Given the description of an element on the screen output the (x, y) to click on. 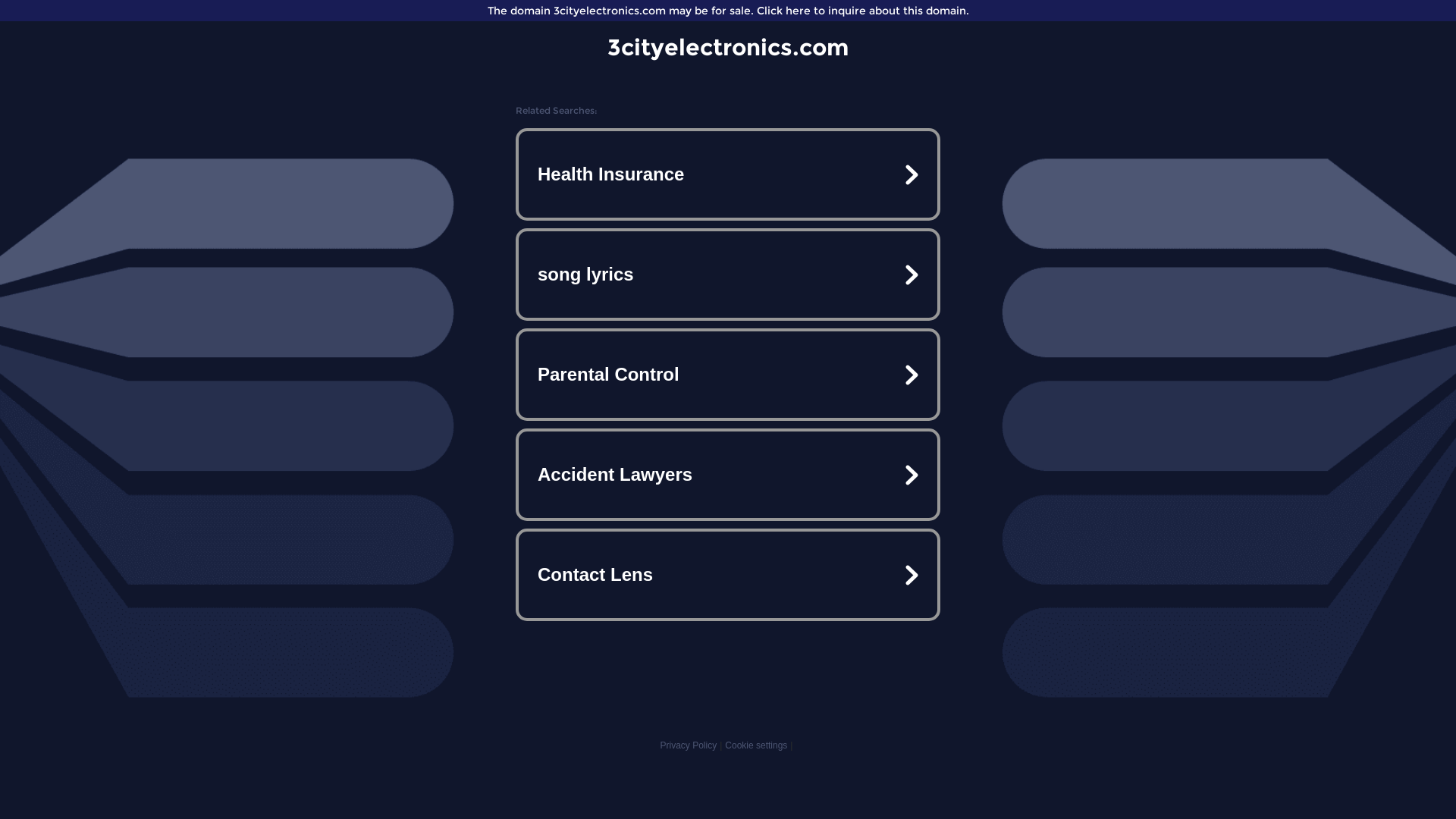
Privacy Policy Element type: text (687, 745)
Health Insurance Element type: text (727, 174)
Accident Lawyers Element type: text (727, 474)
song lyrics Element type: text (727, 274)
Parental Control Element type: text (727, 374)
Contact Lens Element type: text (727, 574)
Cookie settings Element type: text (755, 745)
3cityelectronics.com Element type: text (727, 47)
